Given the description of an element on the screen output the (x, y) to click on. 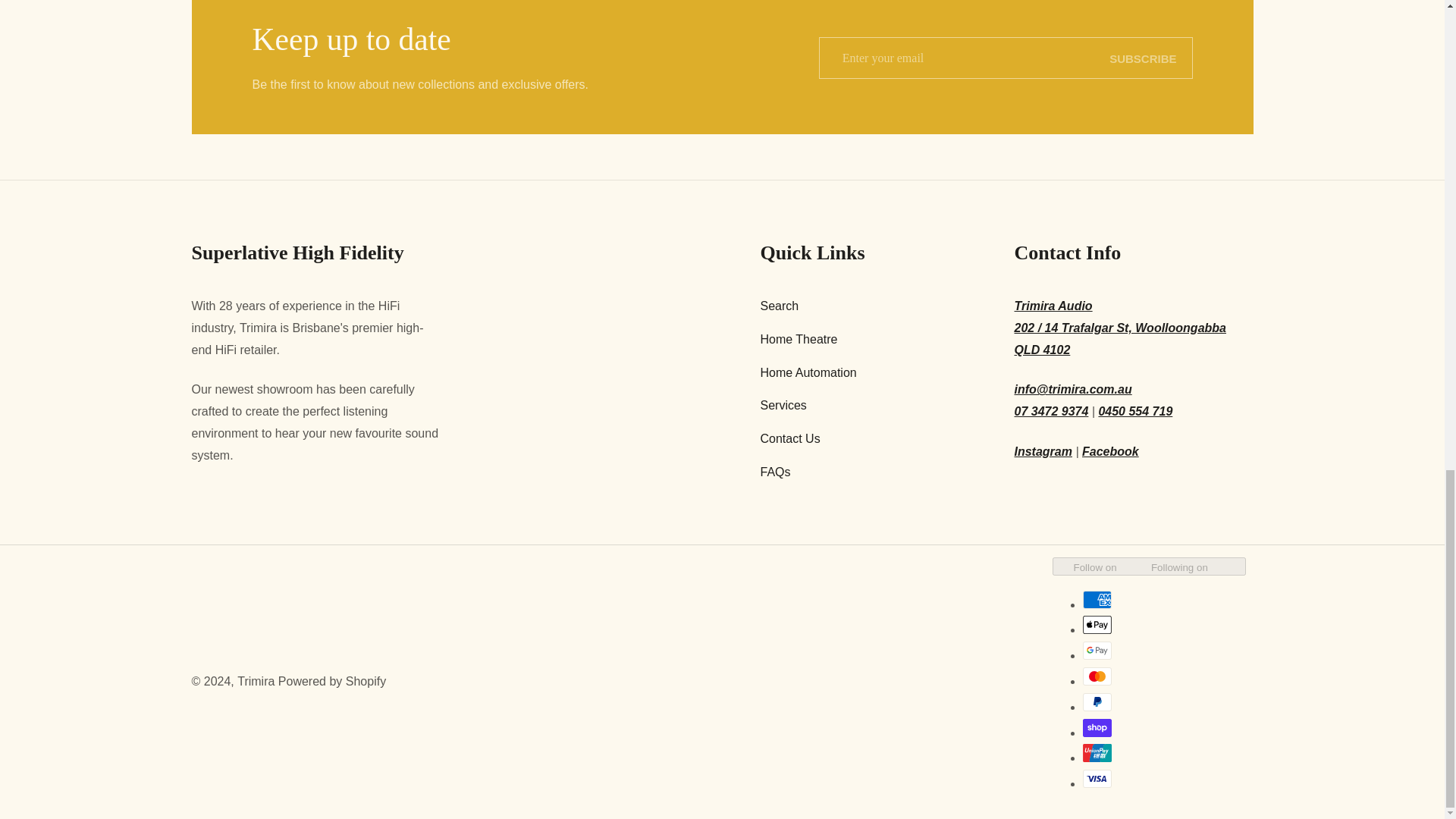
tel: 045-055-4719 (1134, 412)
Link to Trimira Audio Brisbane on Google Maps (1133, 328)
tel: 073-472-9374 (1051, 412)
